Given the description of an element on the screen output the (x, y) to click on. 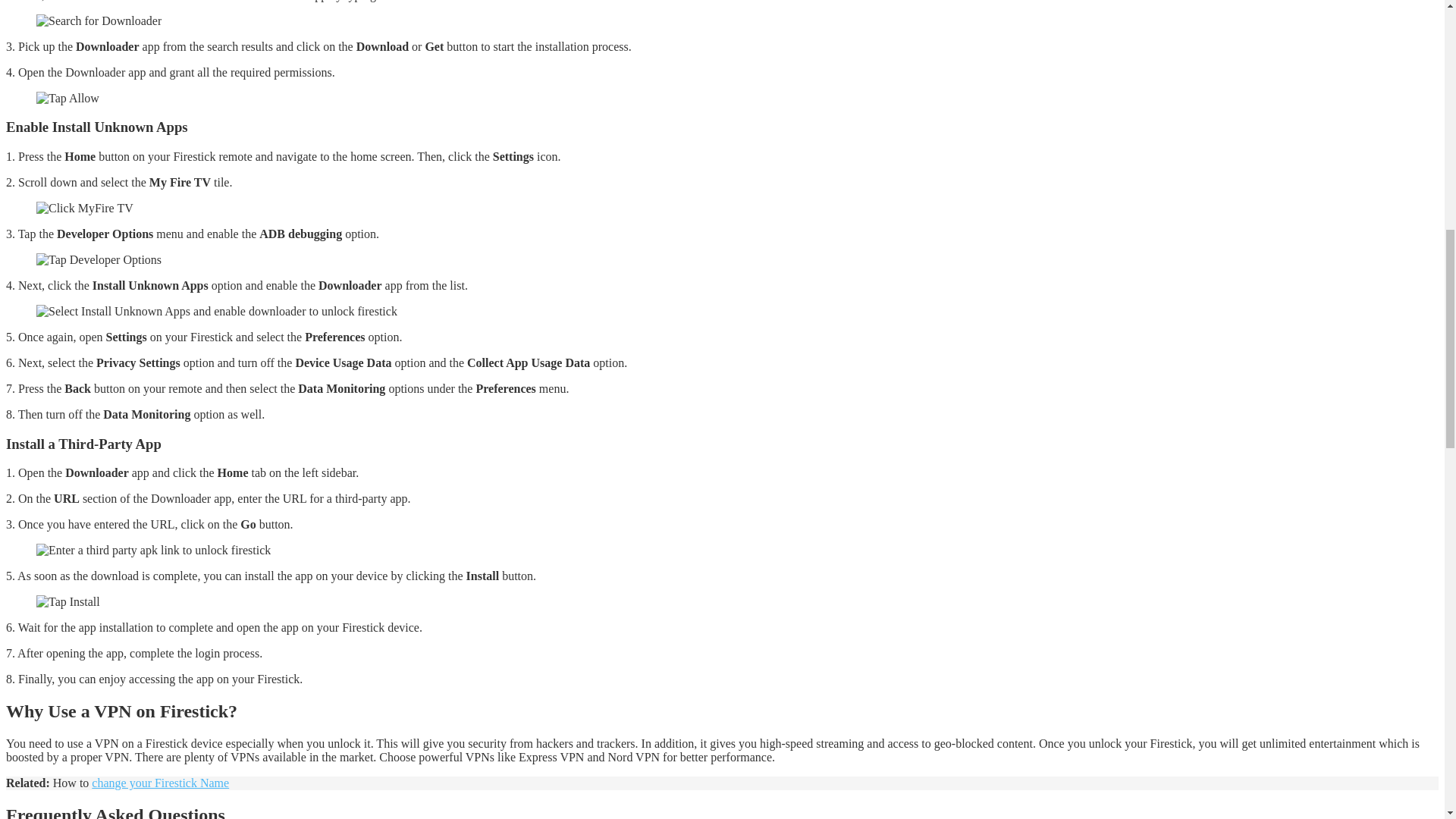
change your Firestick Name (159, 782)
